Given the description of an element on the screen output the (x, y) to click on. 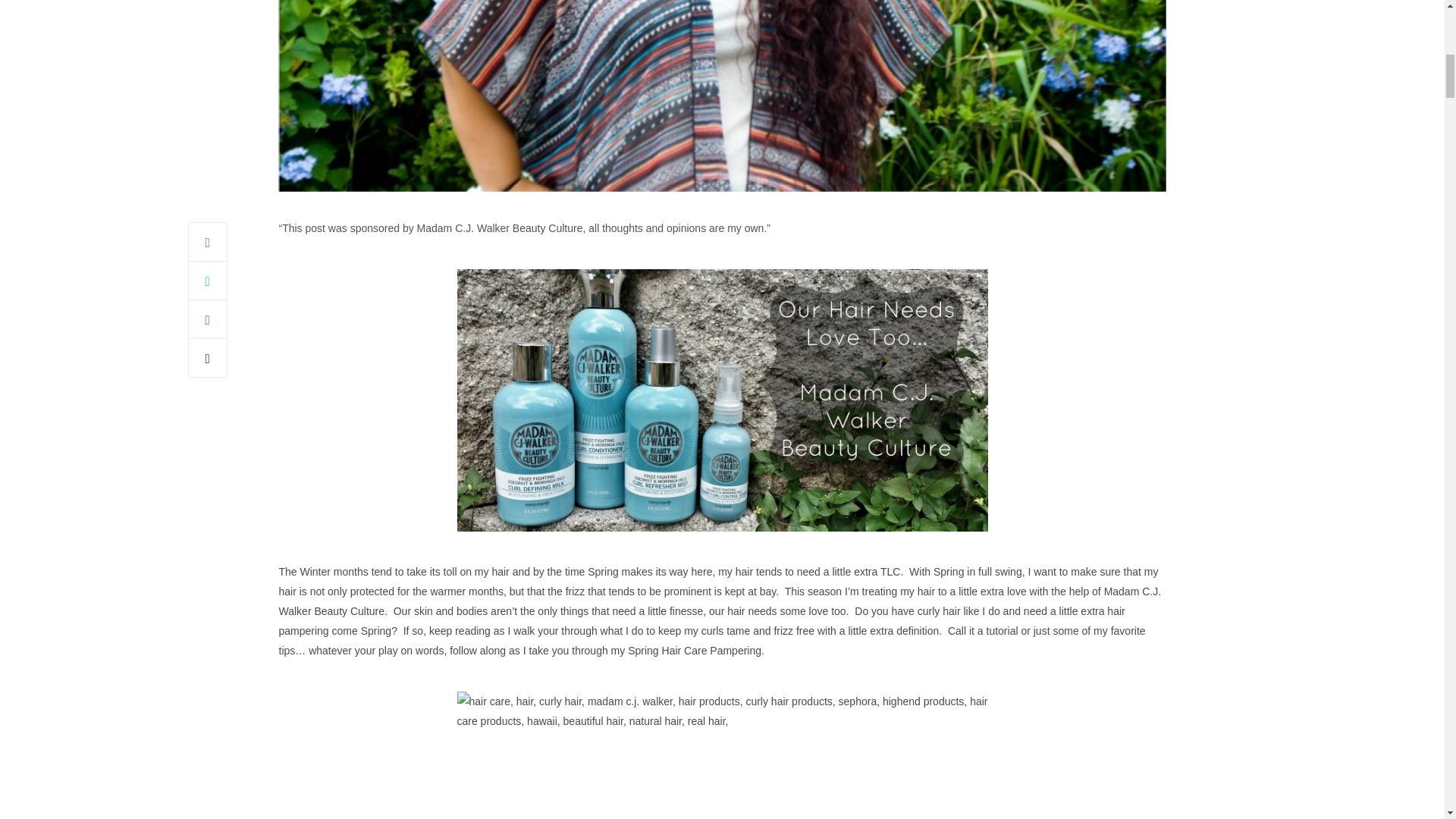
Pinterest (207, 319)
Email (207, 357)
Share on Facebook (207, 241)
Share on Twitter (207, 280)
